Given the description of an element on the screen output the (x, y) to click on. 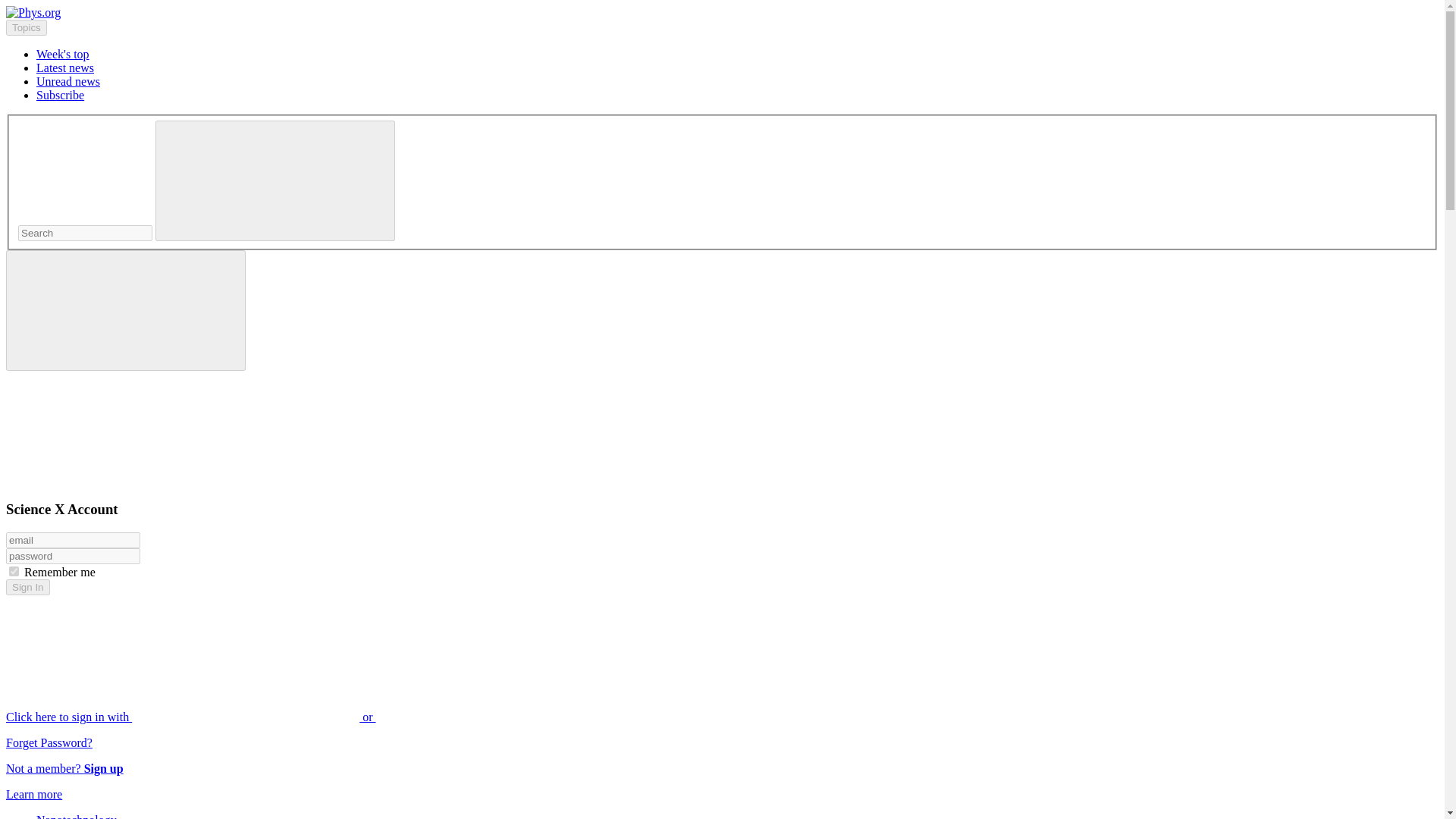
Click here to sign in with or (304, 716)
Latest news (65, 67)
Sign In (27, 587)
on (13, 571)
Subscribe (60, 94)
Forget Password? (49, 742)
Week's top (62, 53)
Not a member? Sign up (64, 768)
Nanotechnology (76, 816)
Learn more (33, 793)
Topics (25, 27)
Unread news (68, 81)
